Given the description of an element on the screen output the (x, y) to click on. 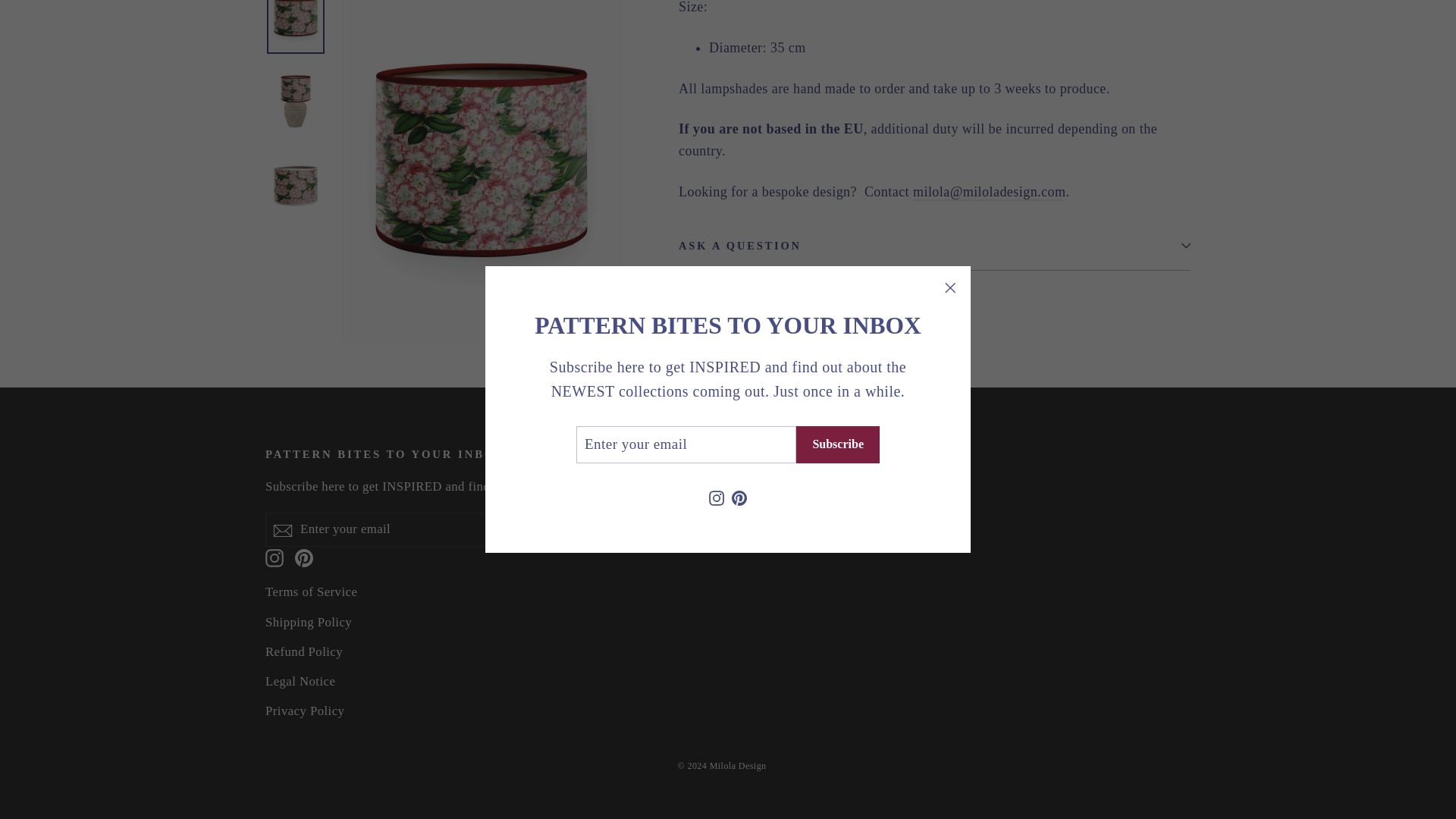
Pin on Pinterest (861, 312)
twitter (761, 313)
instagram (273, 557)
icon-email (282, 530)
Tweet on Twitter (786, 312)
Milola Design on Instagram (716, 100)
Milola Design on Pinterest (739, 100)
Share on Facebook (709, 312)
